Given the description of an element on the screen output the (x, y) to click on. 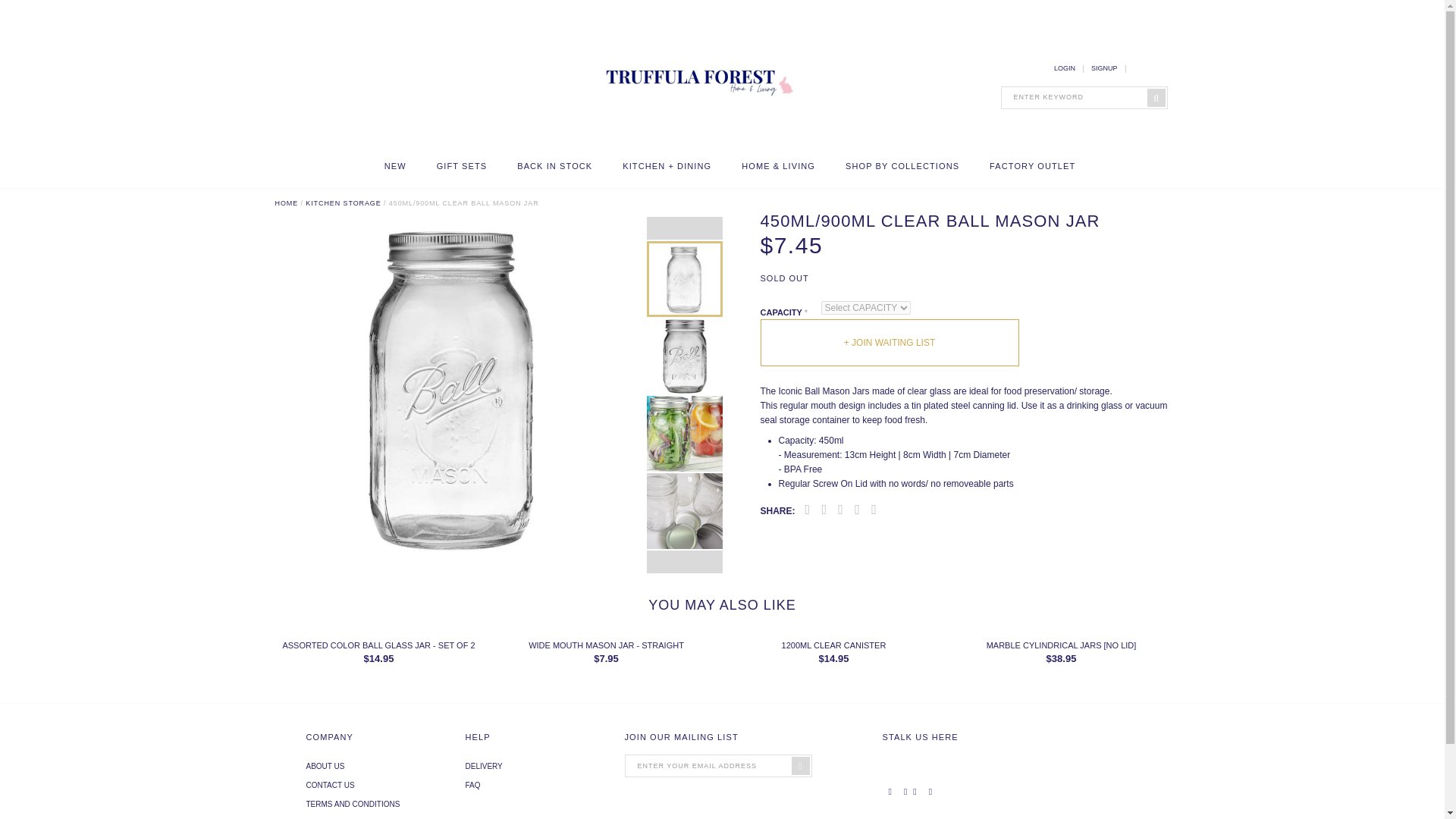
SHOP BY COLLECTIONS (902, 166)
Home (694, 143)
GIFT SETS (461, 166)
SIGNUP (1104, 68)
Login (1064, 68)
NEW (395, 166)
Search (8, 9)
LOGIN (1064, 68)
BACK IN STOCK (554, 166)
